Given the description of an element on the screen output the (x, y) to click on. 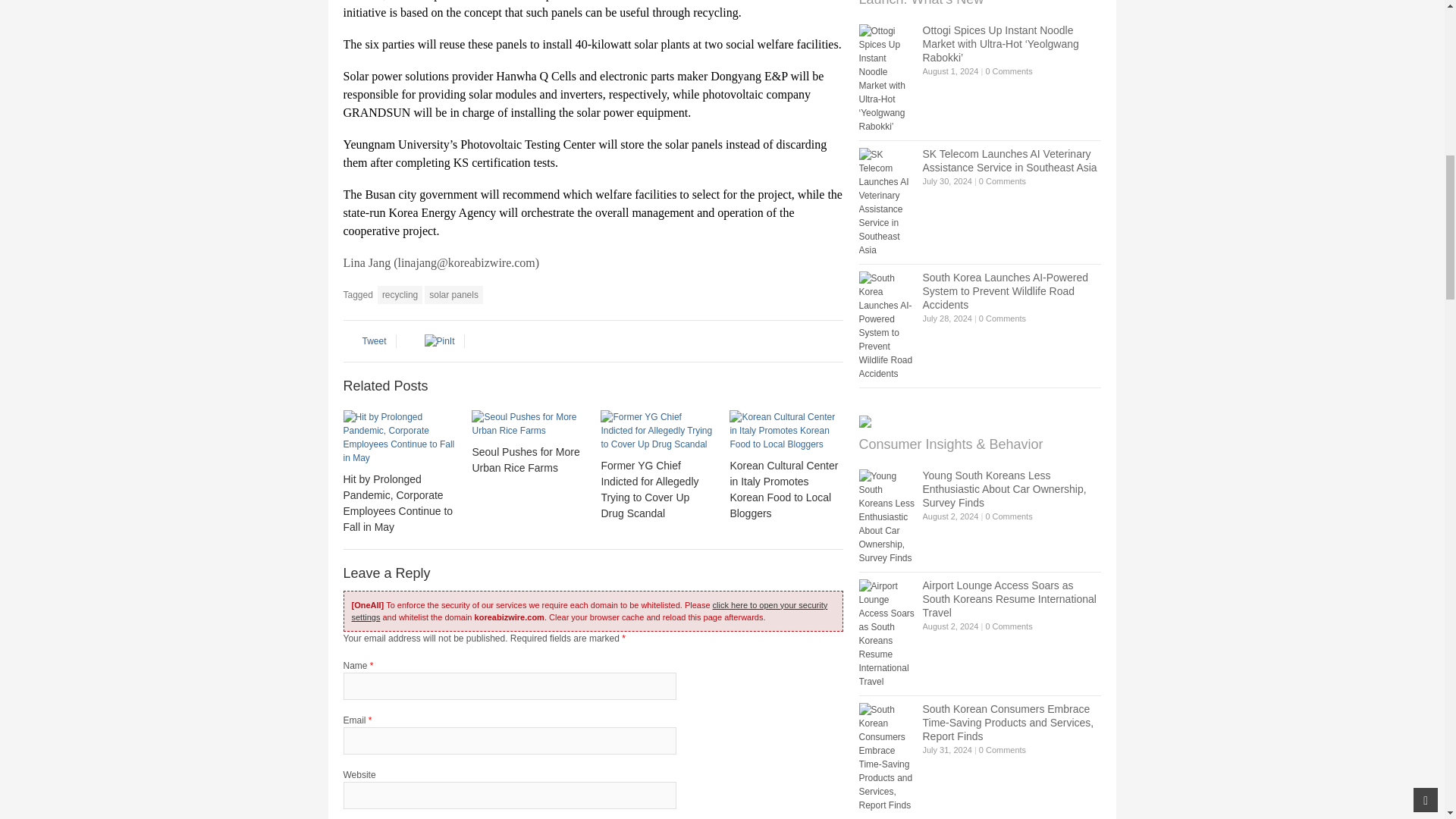
Seoul Pushes for More Urban Rice Farms (528, 423)
